Given the description of an element on the screen output the (x, y) to click on. 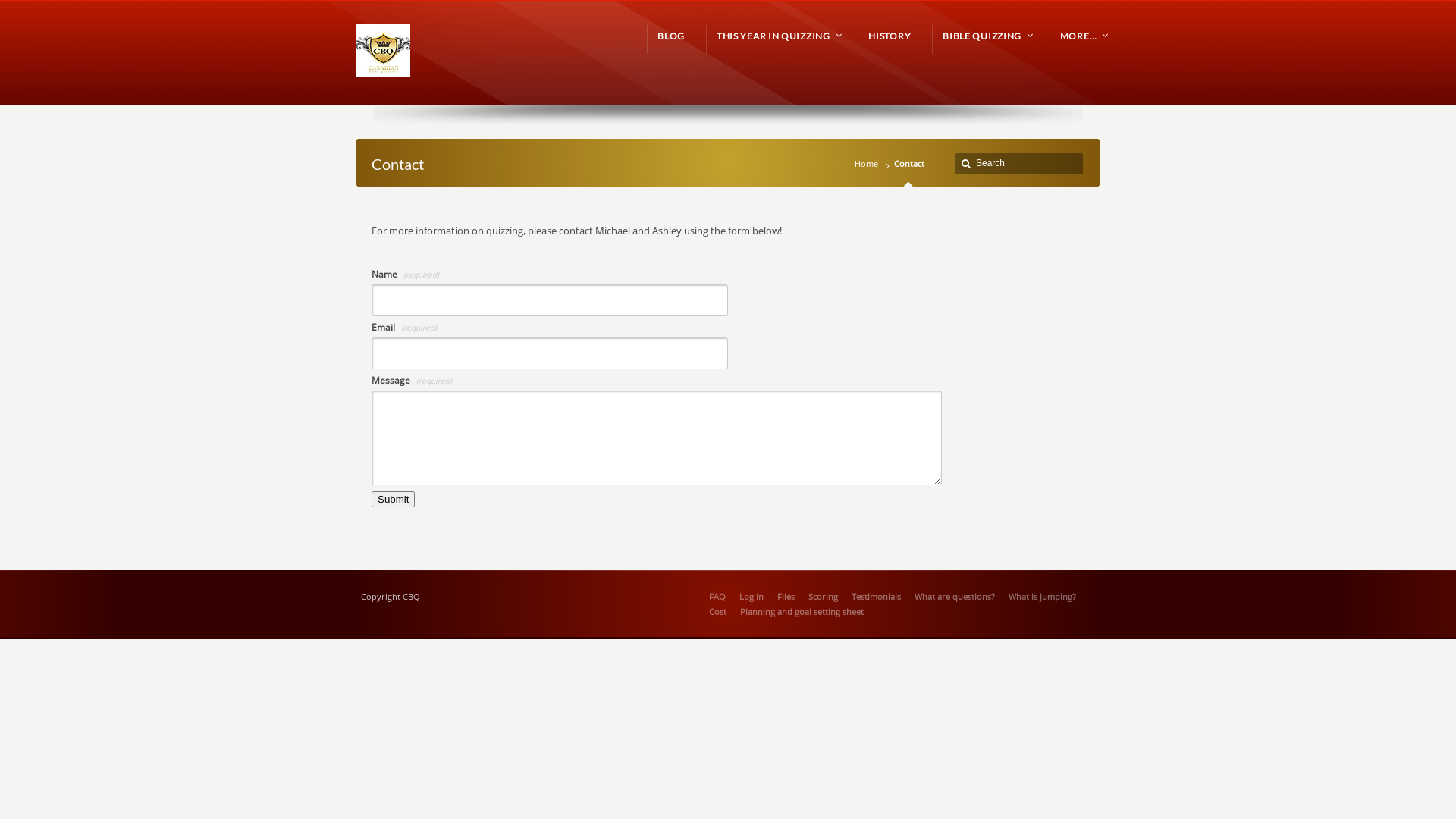
Planning and goal setting sheet Element type: text (801, 611)
HISTORY Element type: text (889, 35)
Log in Element type: text (751, 596)
search Element type: text (966, 162)
Testimonials Element type: text (875, 596)
Scoring Element type: text (822, 596)
Cost Element type: text (717, 611)
BLOG Element type: text (670, 35)
FAQ Element type: text (717, 596)
Files Element type: text (785, 596)
Submit Element type: text (392, 499)
Home Element type: text (869, 163)
THIS YEAR IN QUIZZING Element type: text (776, 35)
What are questions? Element type: text (954, 596)
What is jumping? Element type: text (1042, 596)
BIBLE QUIZZING Element type: text (985, 35)
